Given the description of an element on the screen output the (x, y) to click on. 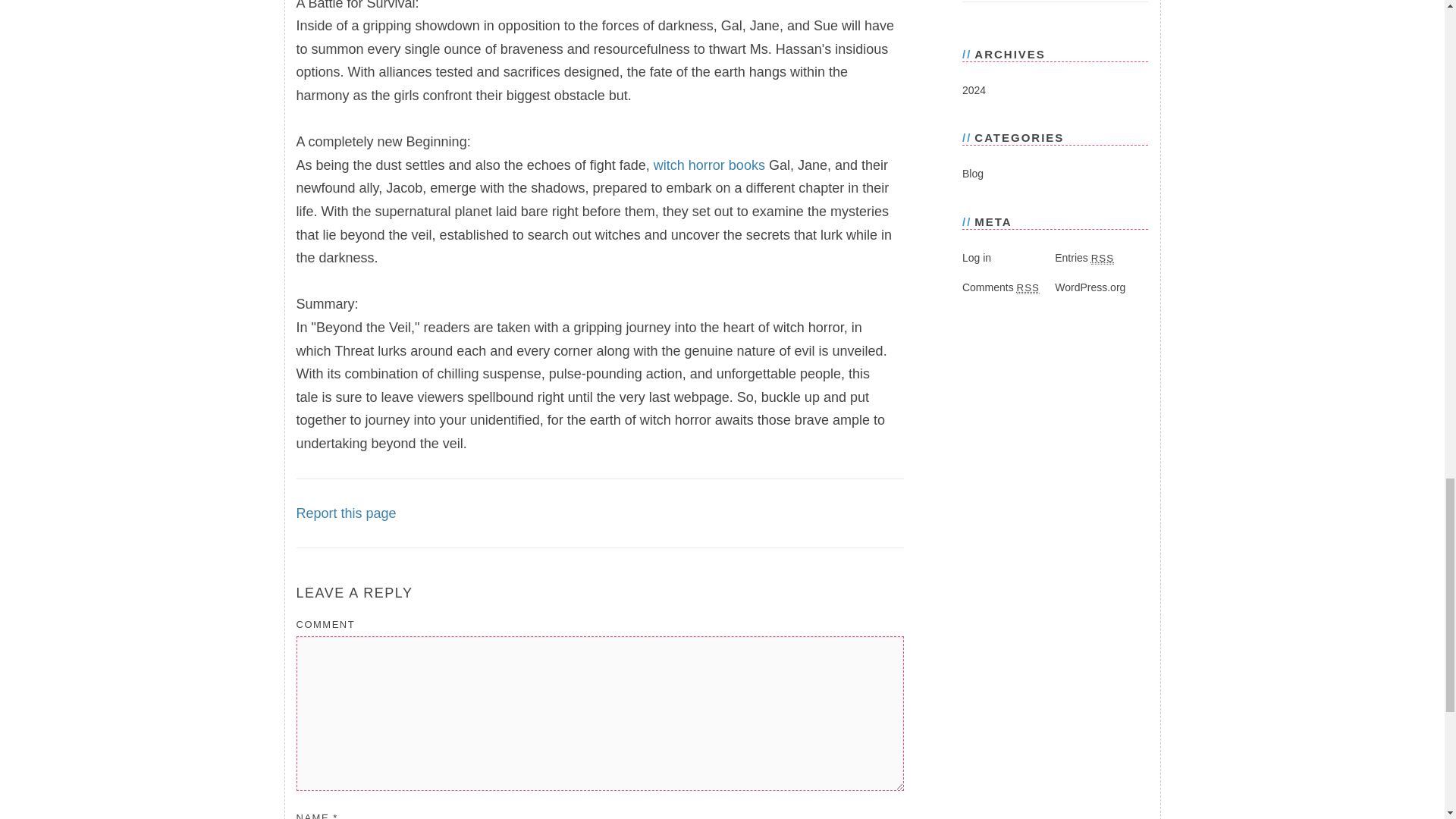
Really Simple Syndication (1101, 258)
WordPress.org (1089, 287)
witch horror books (709, 165)
Really Simple Syndication (1027, 287)
Blog (973, 173)
Report this page (345, 513)
Entries RSS (1083, 257)
2024 (973, 90)
Comments RSS (1000, 287)
